Given the description of an element on the screen output the (x, y) to click on. 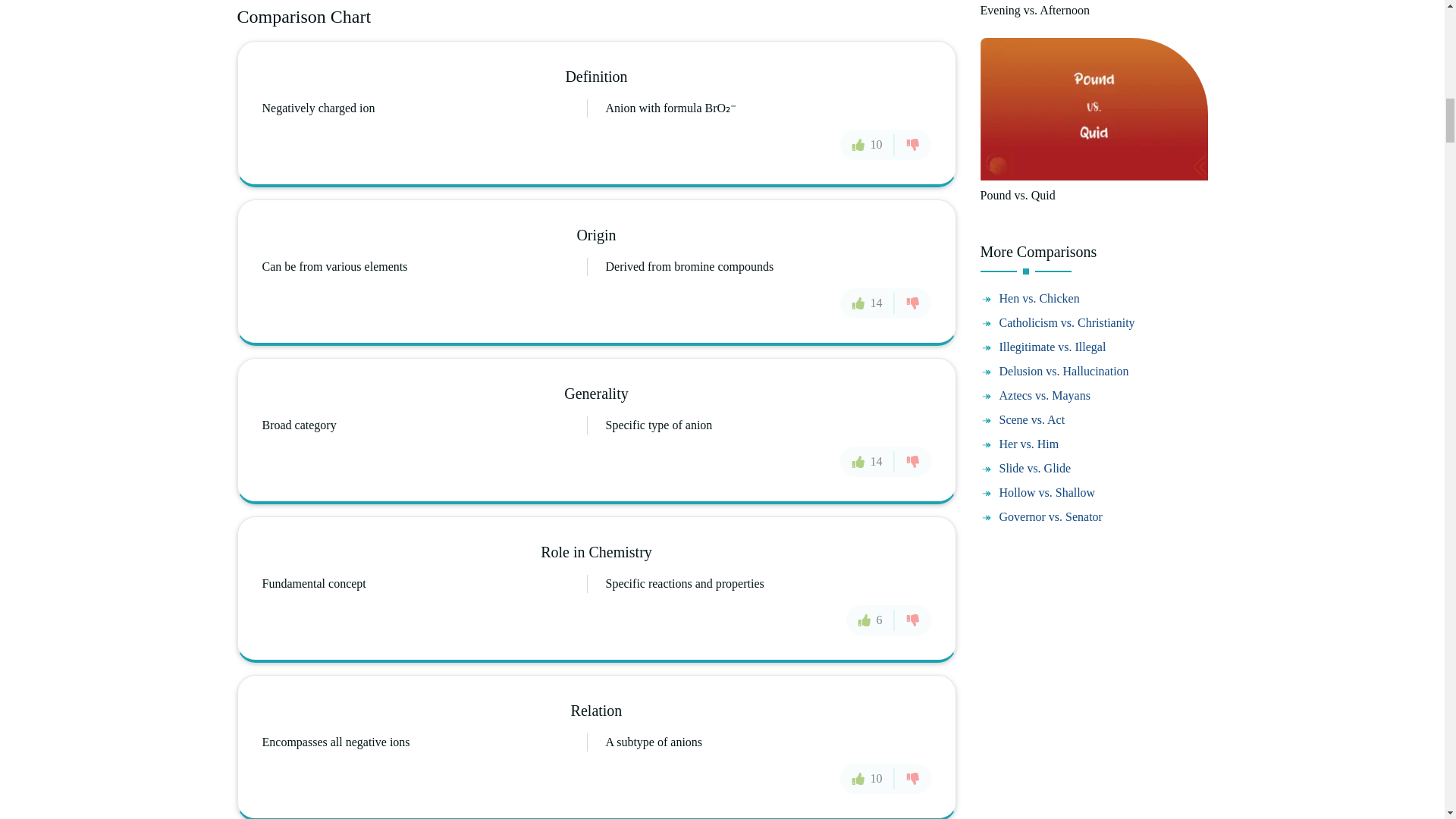
10 (867, 777)
6 (870, 620)
14 (867, 303)
14 (867, 460)
10 (867, 143)
